Given the description of an element on the screen output the (x, y) to click on. 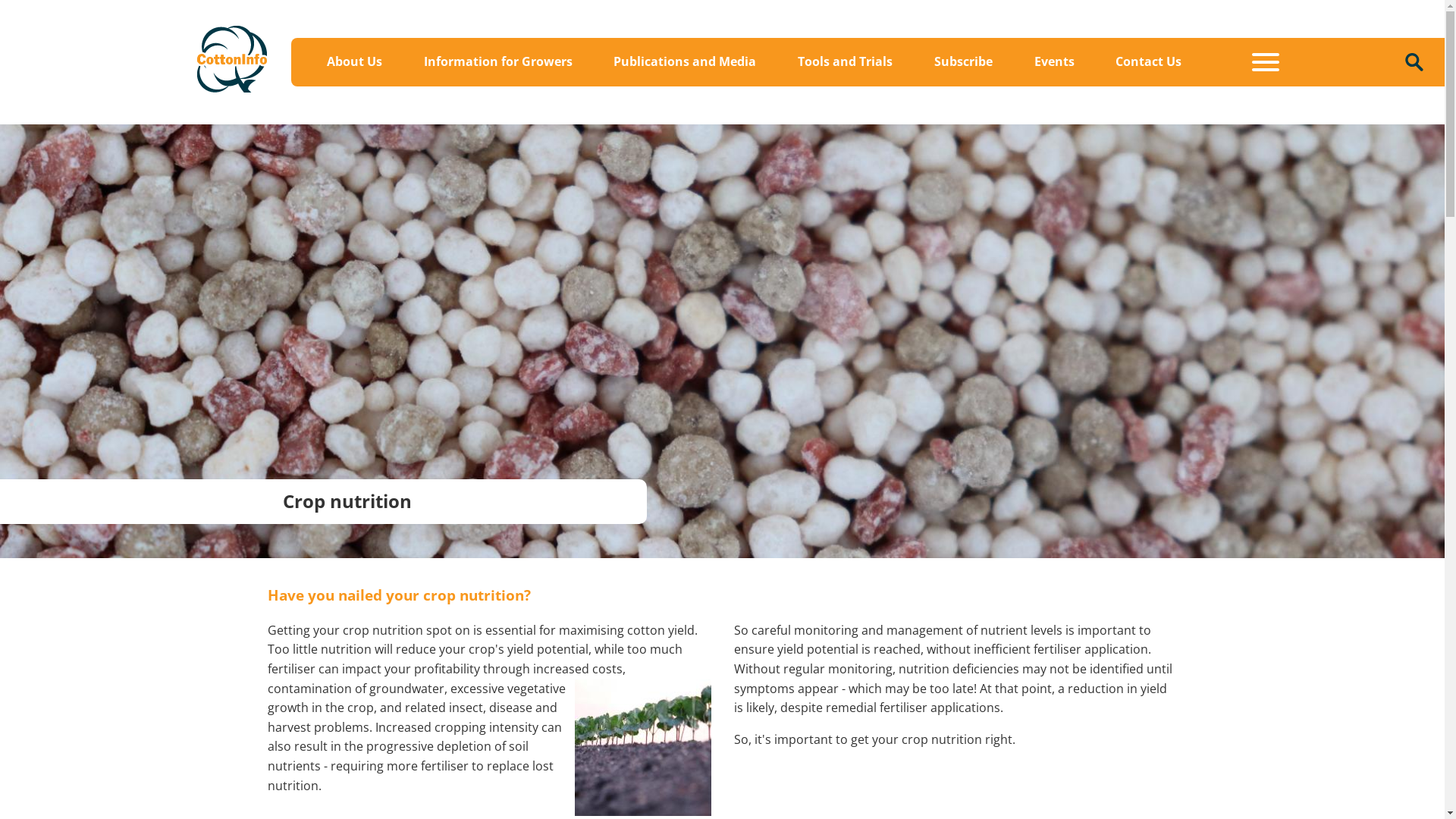
Enter search terms Element type: hover (1414, 61)
About Us Element type: text (354, 62)
Tools and Trials Element type: text (844, 62)
Subscribe Element type: text (963, 62)
Information for Growers Element type: text (497, 62)
Contact Us Element type: text (1148, 62)
Events Element type: text (1054, 62)
Skip to main content Element type: text (0, 0)
Publications and Media Element type: text (684, 62)
